Given the description of an element on the screen output the (x, y) to click on. 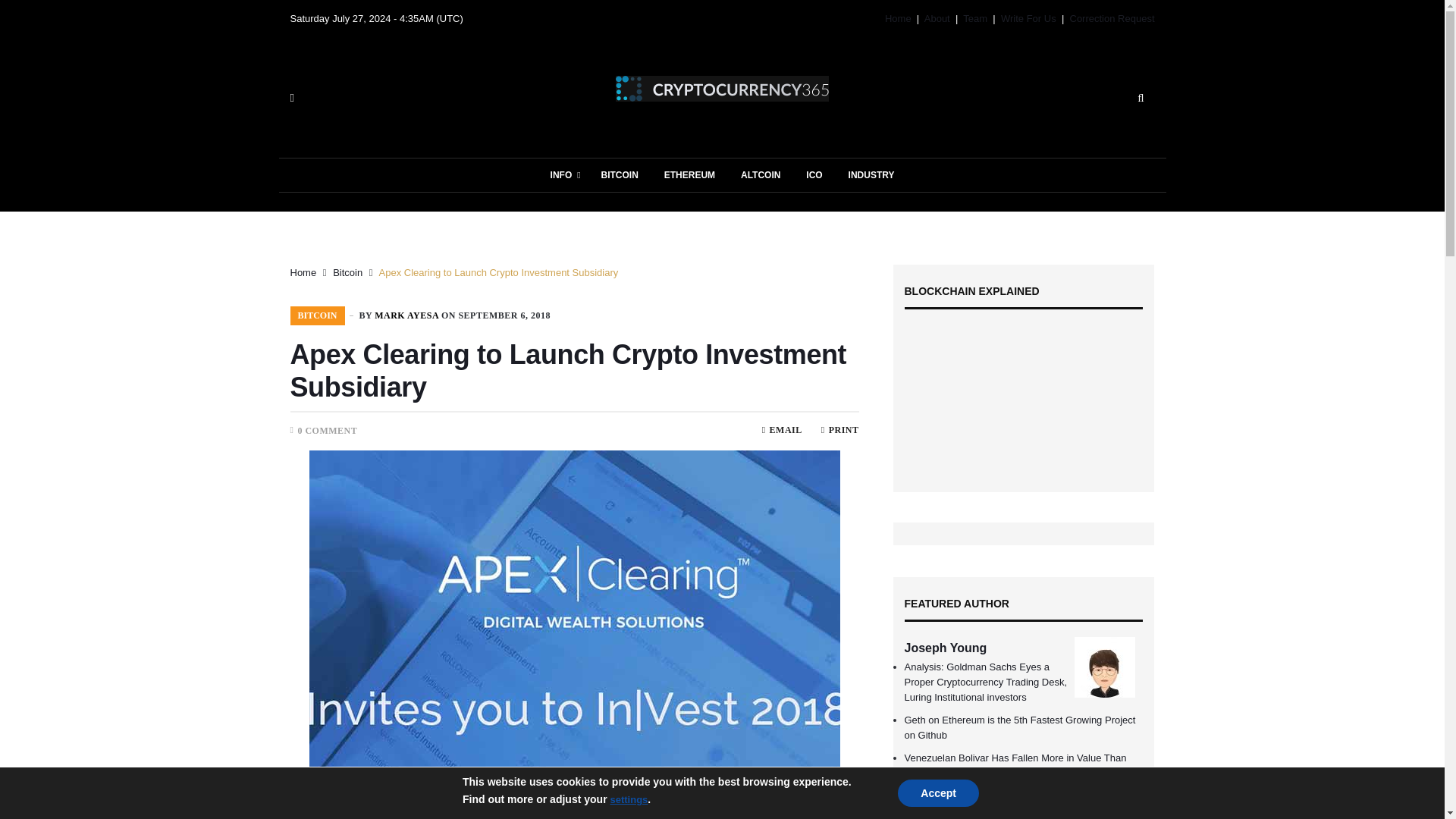
Posts by Joseph Young (945, 647)
Team (974, 18)
Write For Us (1029, 18)
Home (898, 18)
About (937, 18)
Posts by Mark Ayesa (406, 315)
